Given the description of an element on the screen output the (x, y) to click on. 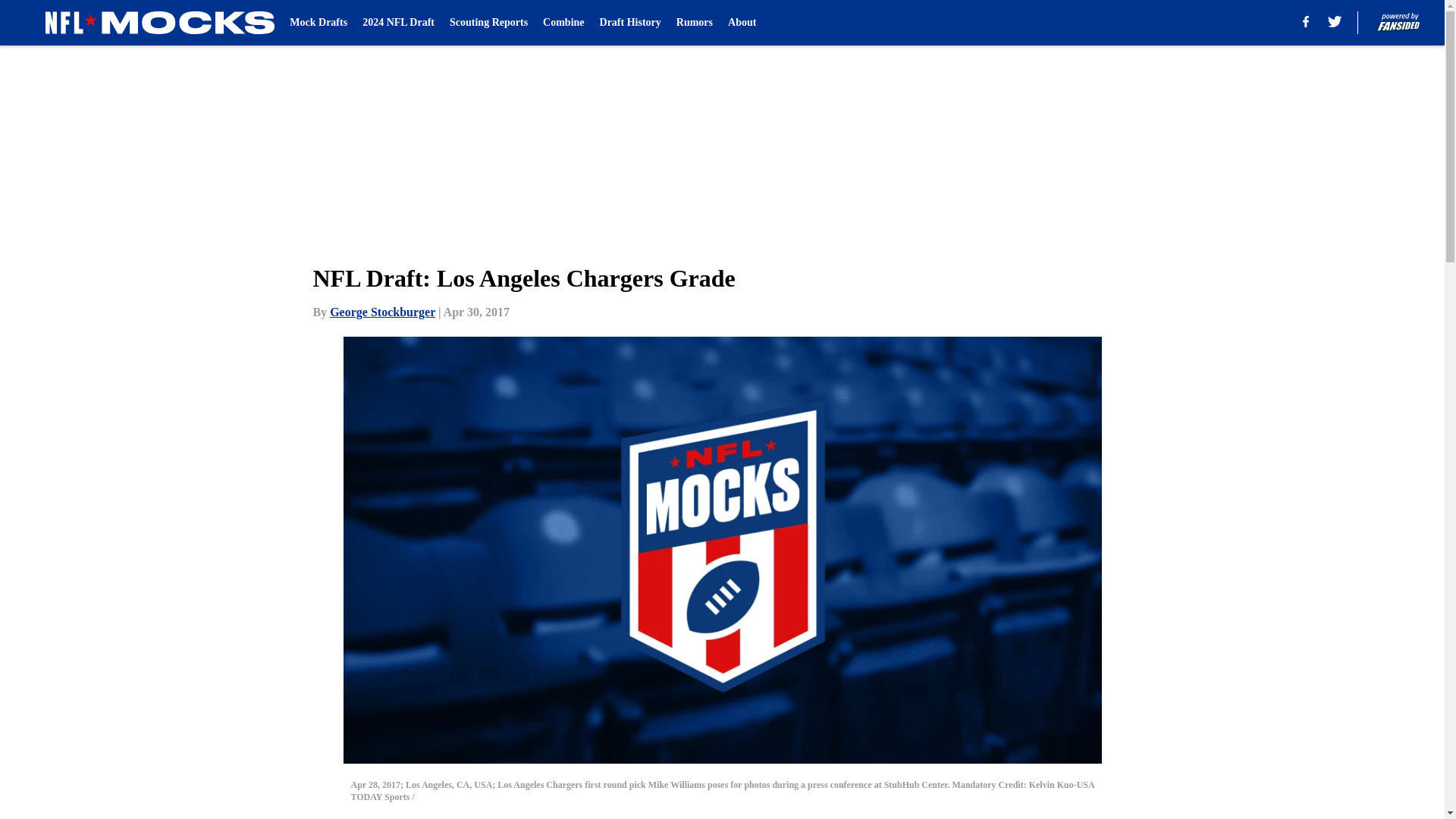
Draft History (630, 22)
Mock Drafts (318, 22)
George Stockburger (382, 311)
2024 NFL Draft (397, 22)
Combine (563, 22)
About (741, 22)
Scouting Reports (488, 22)
Rumors (695, 22)
